Given the description of an element on the screen output the (x, y) to click on. 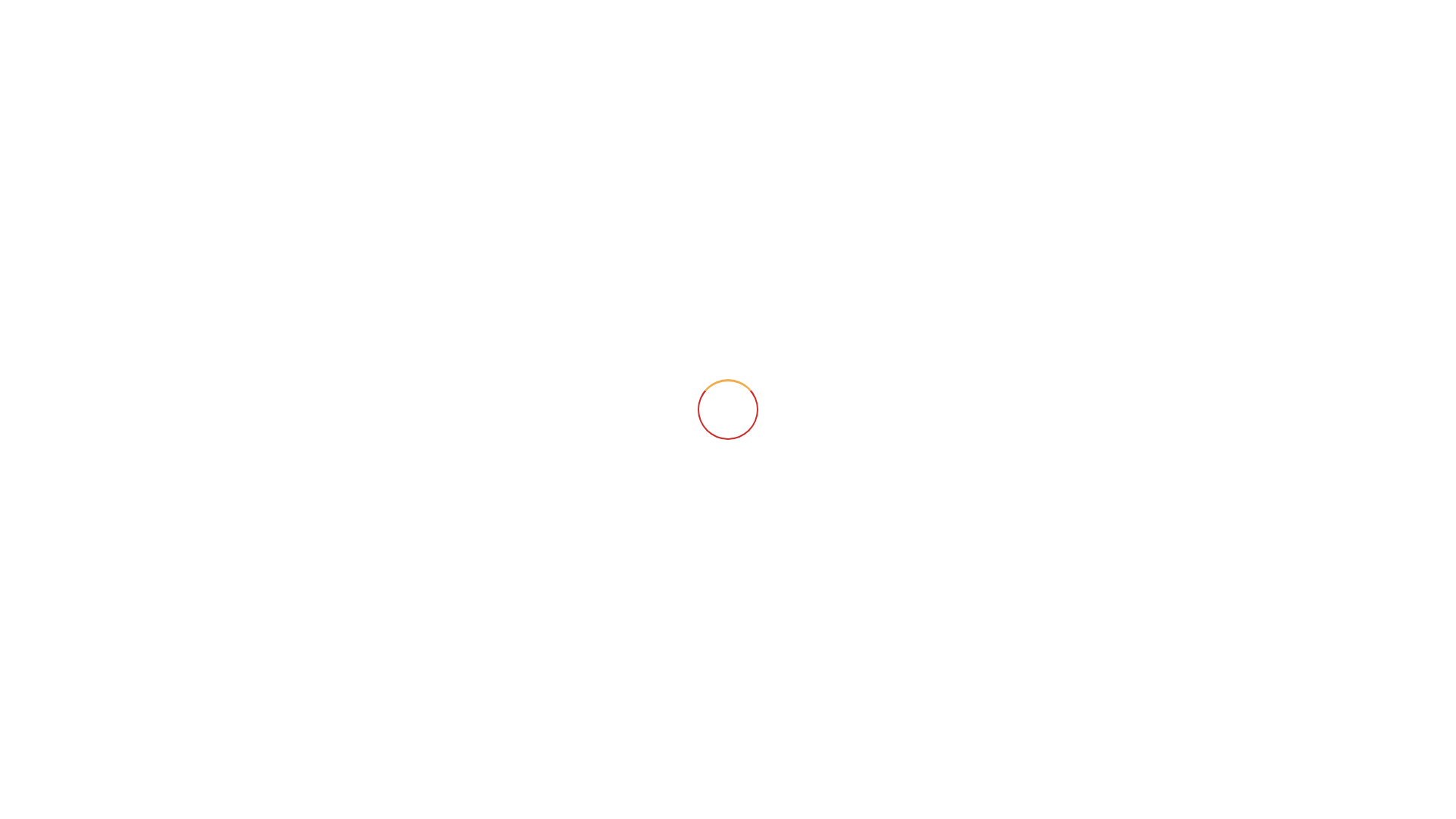
02 9764 4488 Element type: text (788, 37)
Staff Login Element type: text (1126, 34)
Contact Us Element type: text (619, 34)
Home Element type: text (335, 34)
Search Element type: text (1054, 35)
Career Element type: text (541, 34)
Staffing for Residential Facilities and
Home Care Providers Element type: text (727, 341)
About Us Element type: text (406, 34)
I'm in need of care Element type: text (424, 341)
News Element type: text (480, 34)
